Given the description of an element on the screen output the (x, y) to click on. 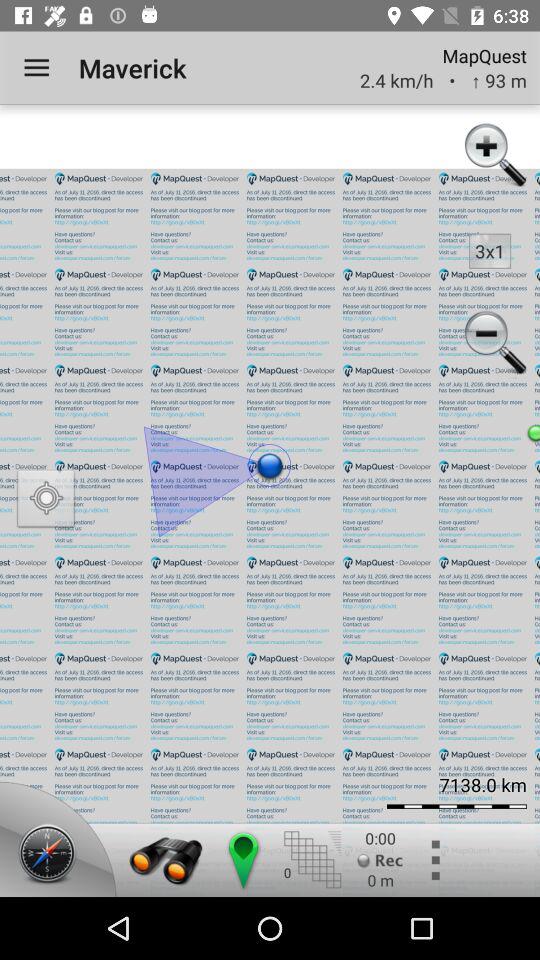
toggle location (45, 500)
